Given the description of an element on the screen output the (x, y) to click on. 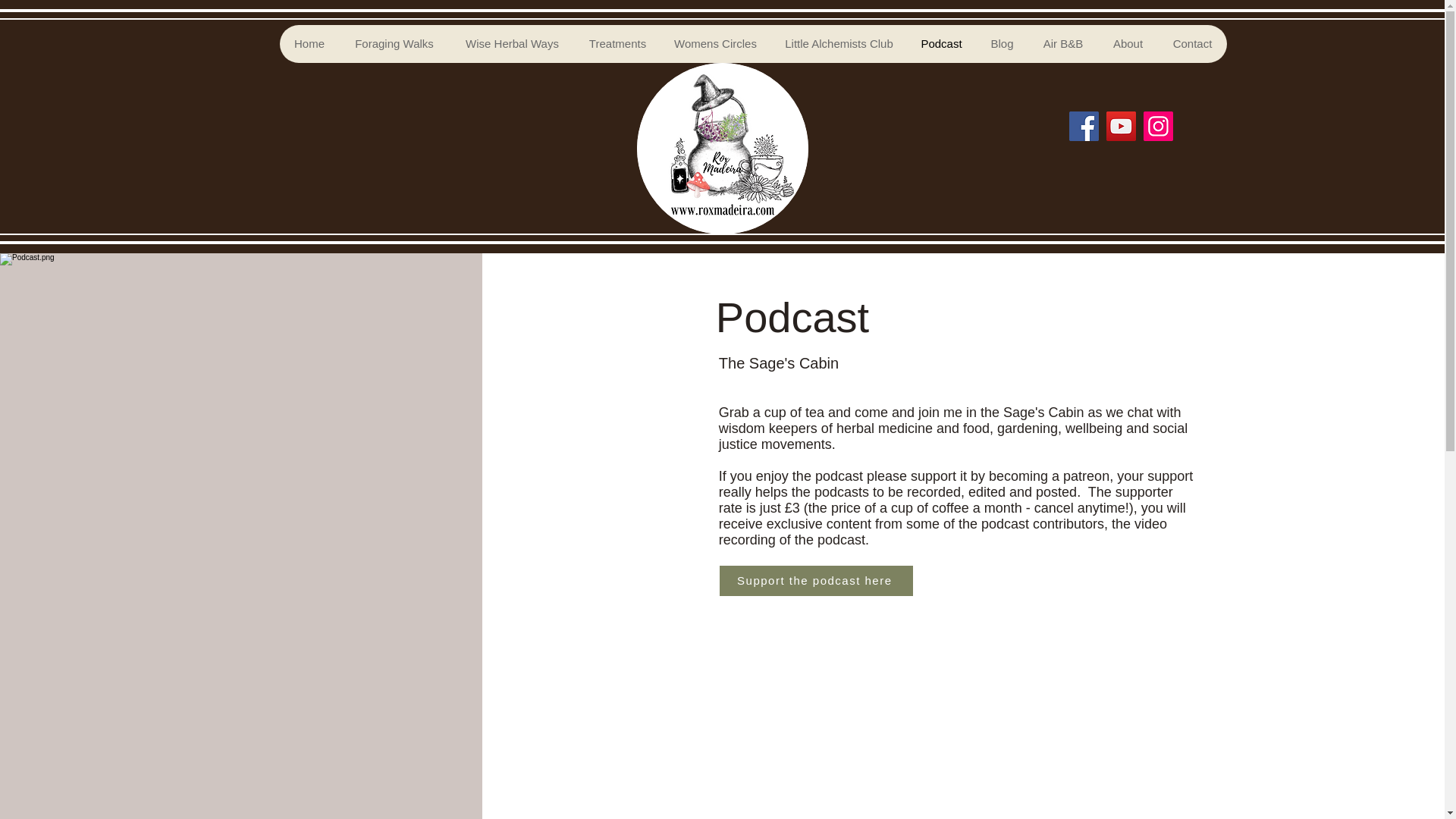
Contact (1191, 44)
Womens Circles (715, 44)
www.roxmadeira.com.png (722, 148)
About (1127, 44)
Home (309, 44)
Treatments (617, 44)
Blog (1001, 44)
Podcast (941, 44)
Foraging Walks (393, 44)
Little Alchemists Club (837, 44)
